Given the description of an element on the screen output the (x, y) to click on. 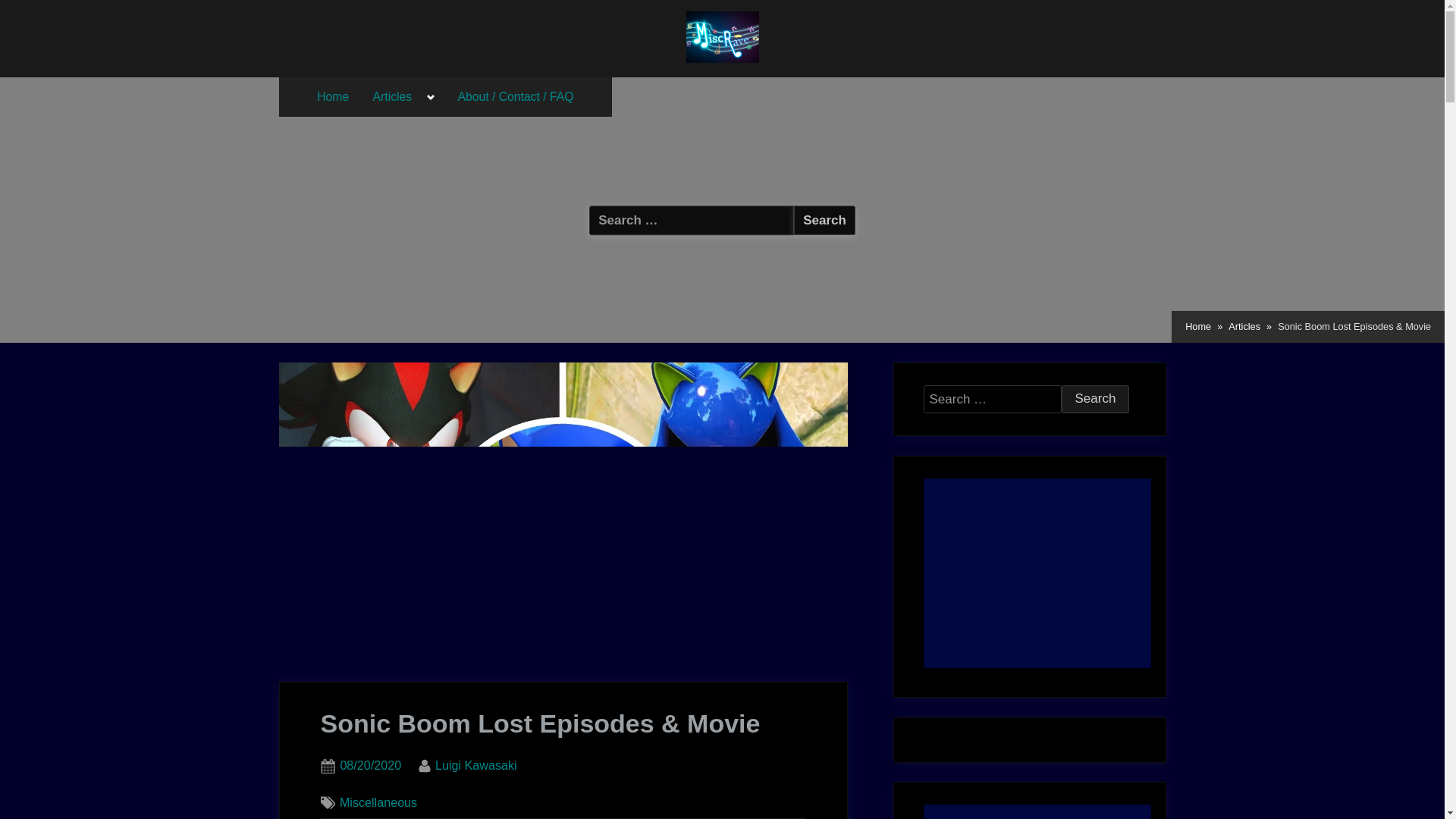
Articles (392, 97)
Miscellaneous (377, 802)
Articles (1244, 326)
Search (824, 220)
Search (824, 220)
Search (1095, 399)
Home (332, 97)
Toggle sub-menu (431, 97)
Home (1198, 326)
Search (475, 765)
Search (1095, 399)
Search (1095, 399)
